Given the description of an element on the screen output the (x, y) to click on. 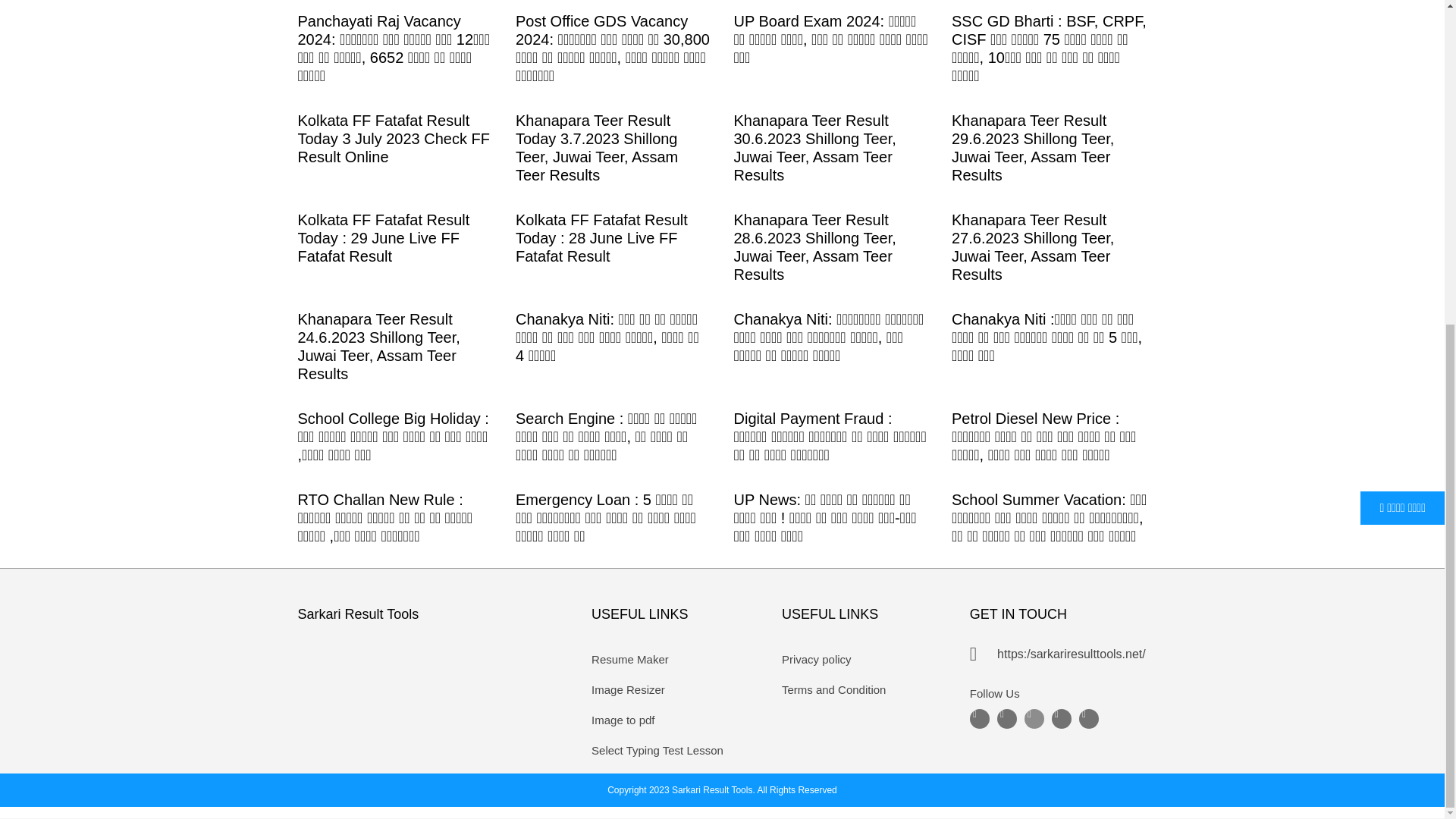
Advertisement (729, 248)
